Given the description of an element on the screen output the (x, y) to click on. 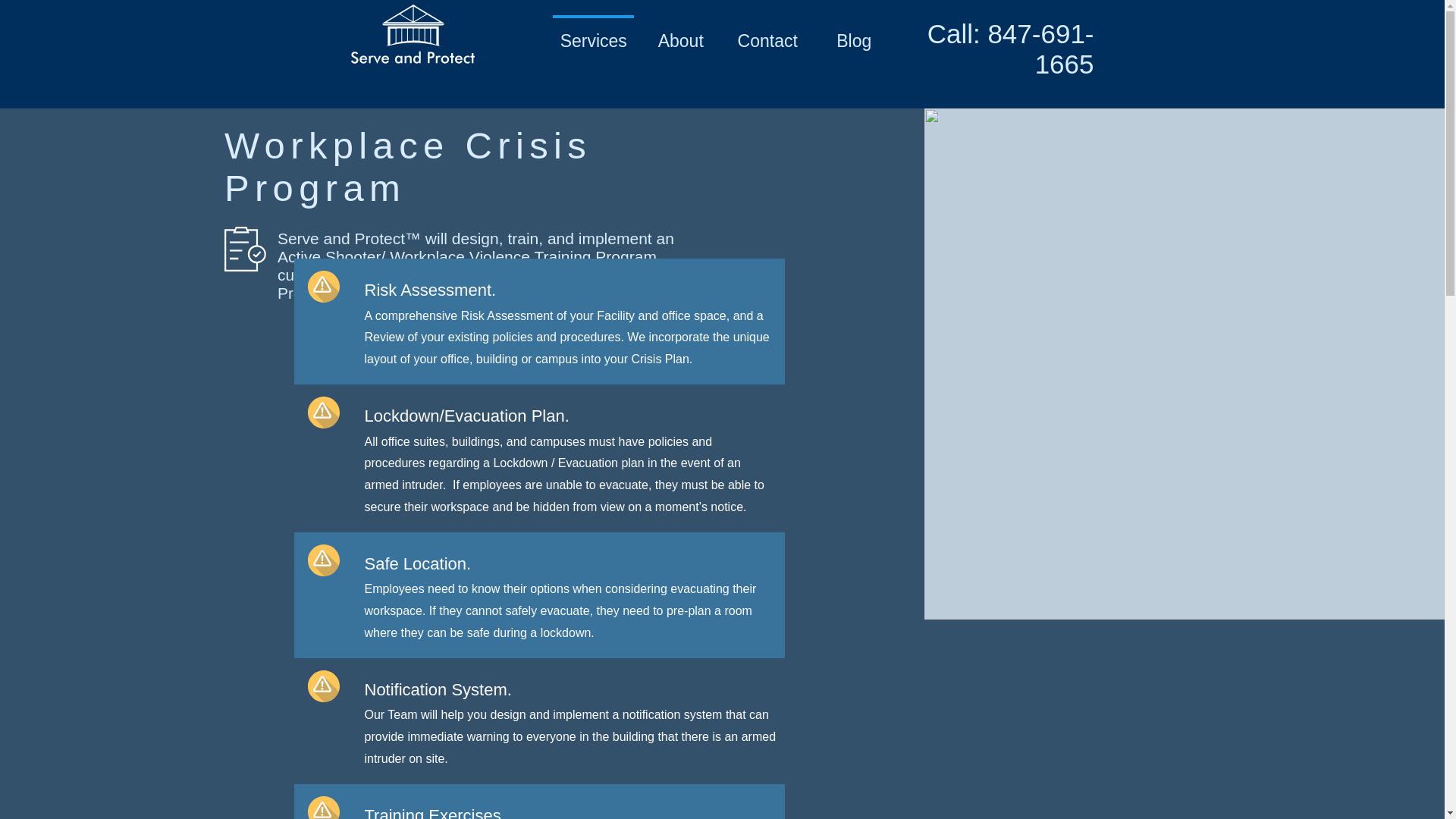
Blog (853, 34)
About (680, 34)
Services (593, 34)
Contact (766, 34)
